Given the description of an element on the screen output the (x, y) to click on. 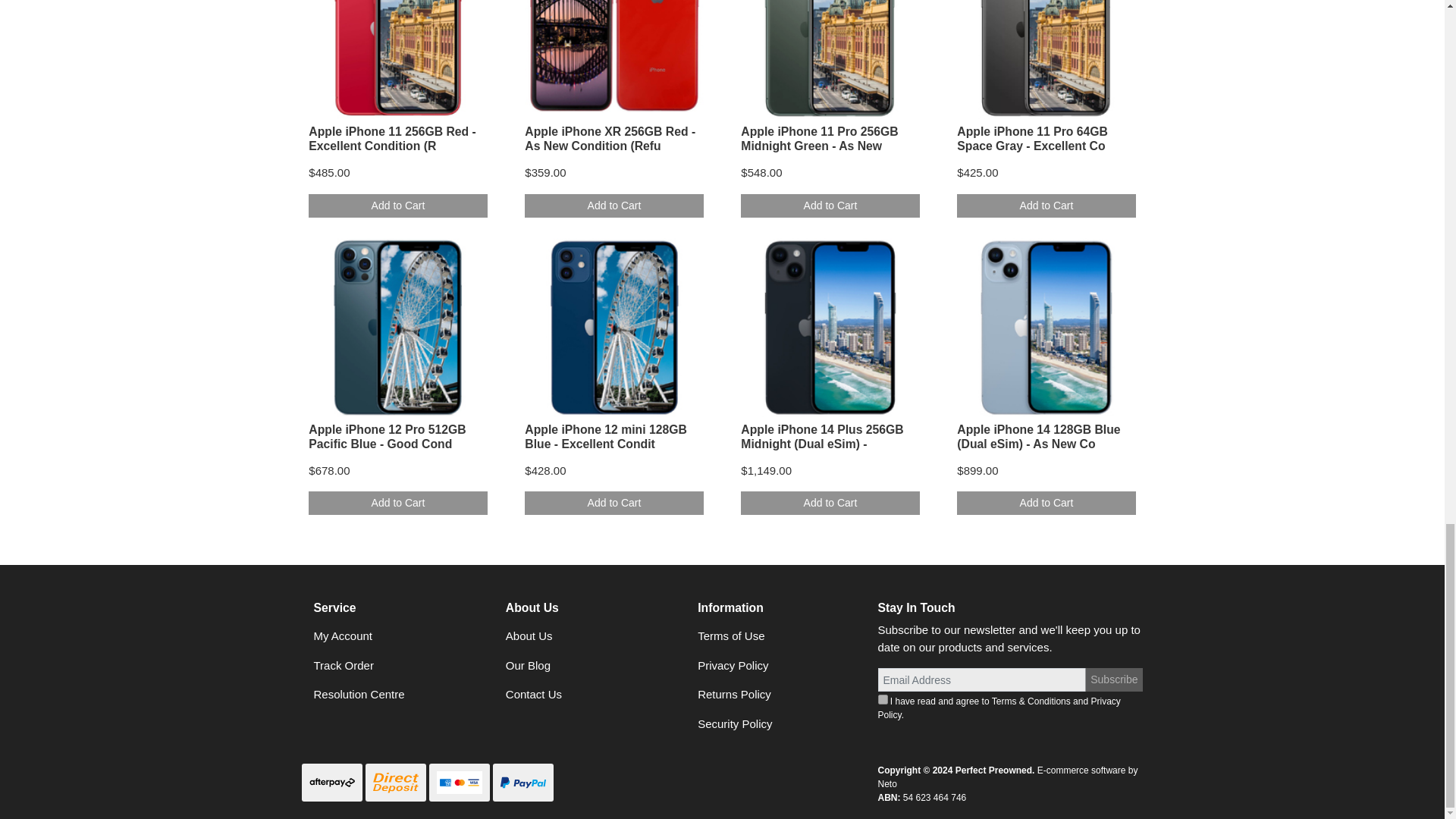
Add to Cart (397, 205)
y (882, 699)
Add to Cart (613, 205)
Neto E-commerce Retail Management Platform (1007, 776)
Subscribe (1113, 679)
